Given the description of an element on the screen output the (x, y) to click on. 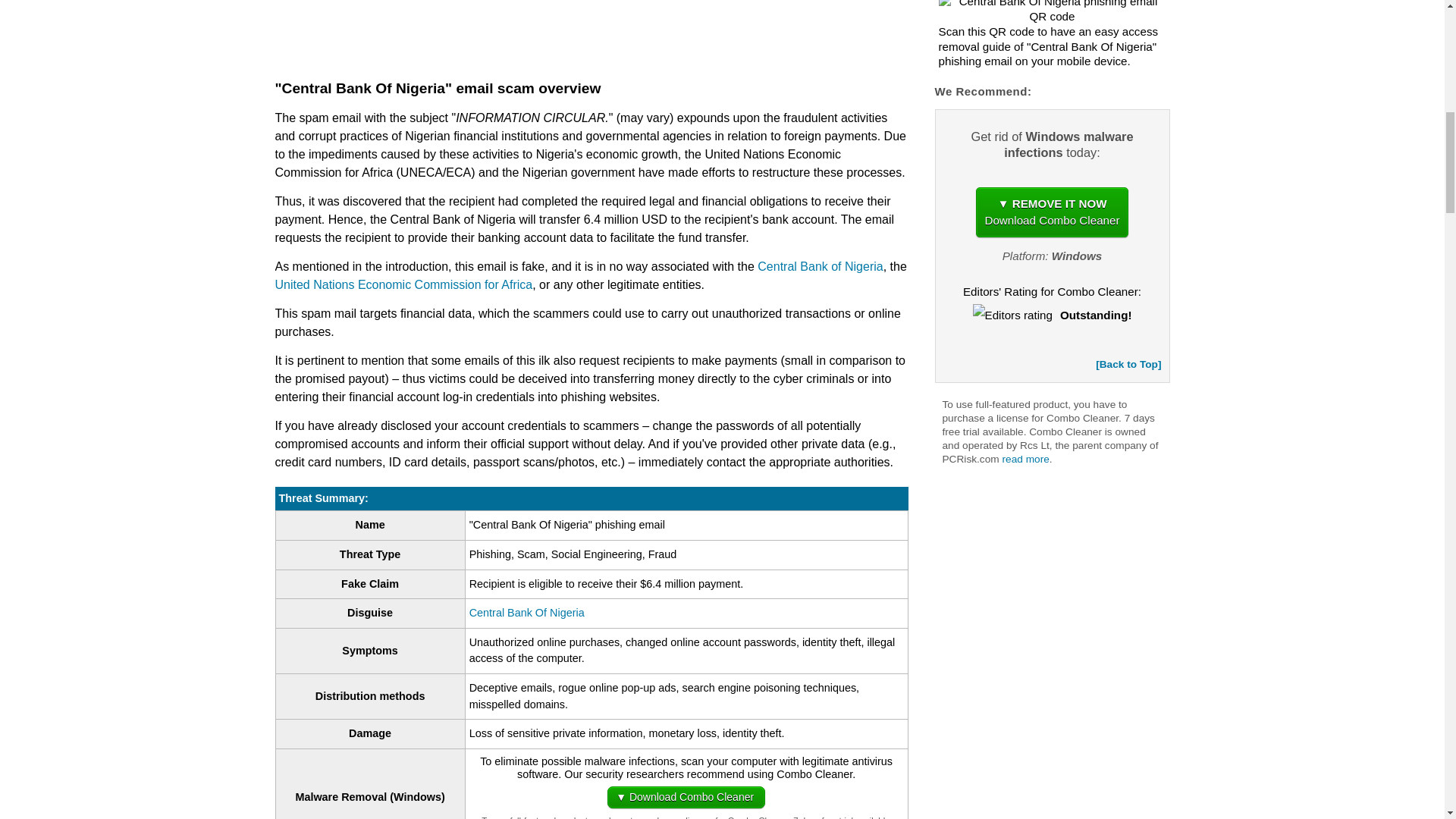
Central Bank Of Nigeria (526, 612)
United Nations Economic Commission for Africa (403, 284)
Read more about us (1026, 459)
Central Bank Of Nigeria phishing email (1052, 12)
Central Bank of Nigeria (819, 266)
